Given the description of an element on the screen output the (x, y) to click on. 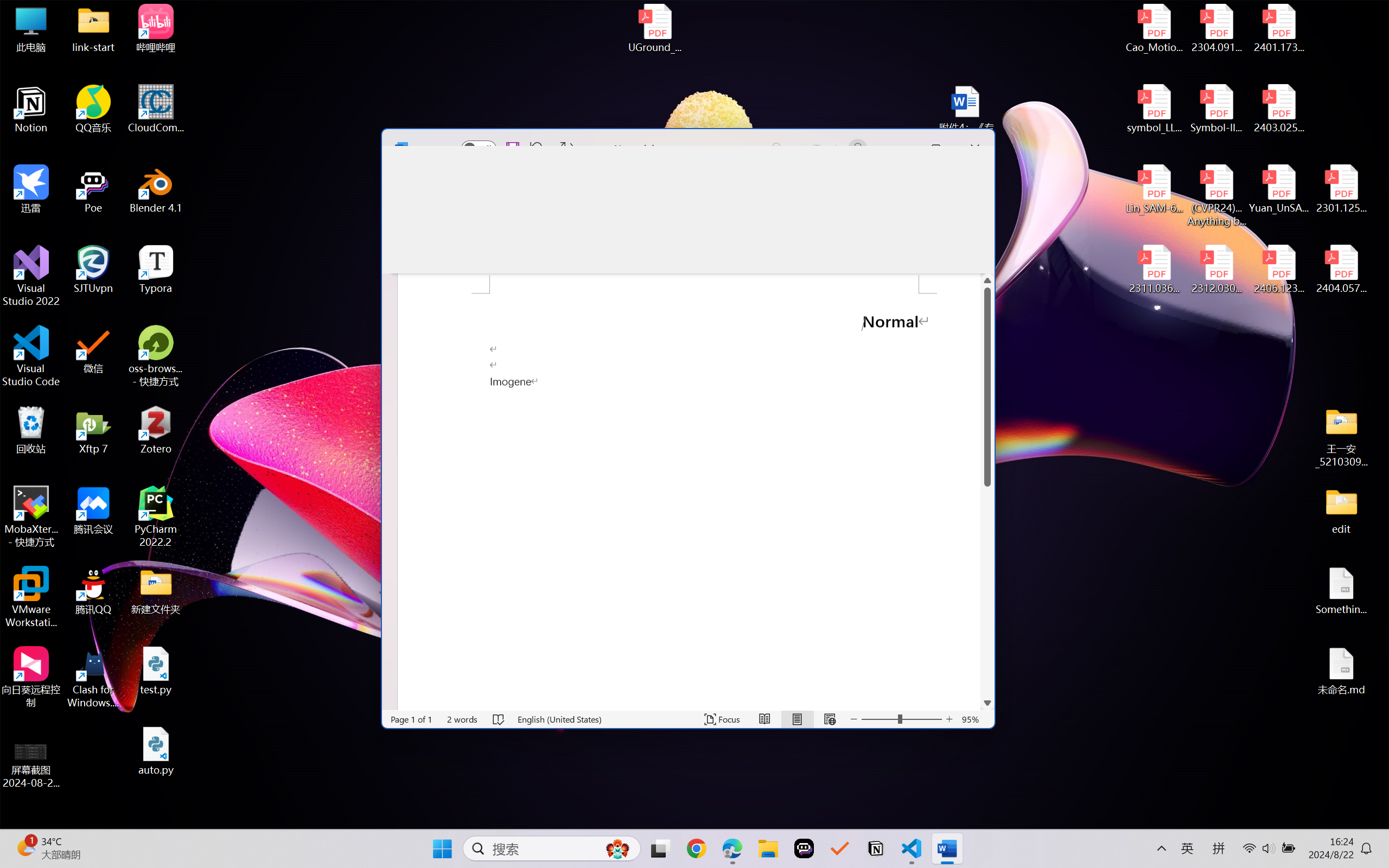
Typora (156, 269)
Format Background (802, 226)
Visual Studio Code (31, 355)
2403.02502v1.pdf (1278, 109)
Column left (388, 703)
2404.05719v1.pdf (1340, 269)
2312.03032v2.pdf (1216, 269)
VMware Workstation Pro (31, 597)
Xftp 7 (93, 430)
Class: NetUIScrollBar (680, 703)
